Given the description of an element on the screen output the (x, y) to click on. 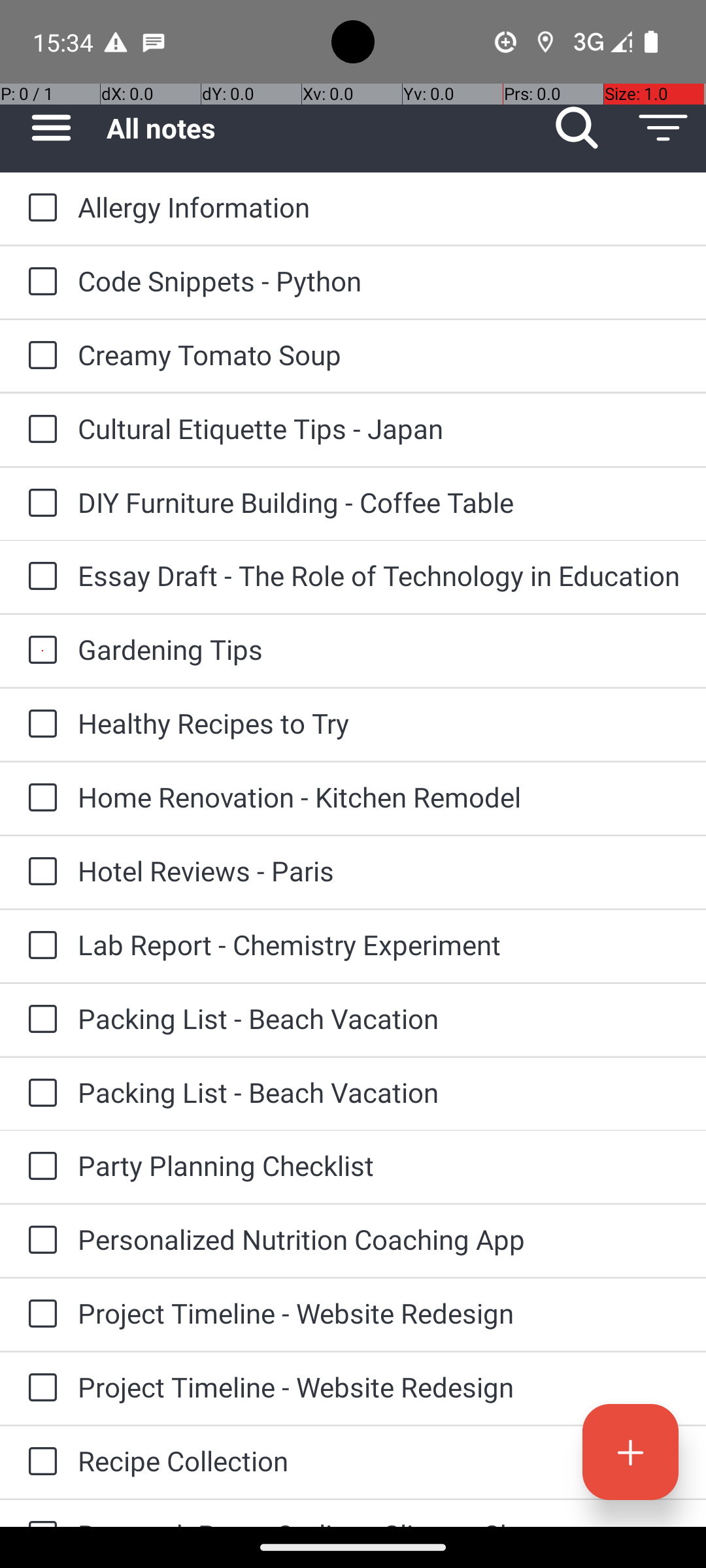
to-do: Allergy Information Element type: android.widget.CheckBox (38, 208)
Allergy Information Element type: android.widget.TextView (378, 206)
to-do: Code Snippets - Python Element type: android.widget.CheckBox (38, 282)
Code Snippets - Python Element type: android.widget.TextView (378, 280)
to-do: Creamy Tomato Soup Element type: android.widget.CheckBox (38, 356)
Creamy Tomato Soup Element type: android.widget.TextView (378, 354)
to-do: Cultural Etiquette Tips - Japan Element type: android.widget.CheckBox (38, 429)
Cultural Etiquette Tips - Japan Element type: android.widget.TextView (378, 427)
to-do: DIY Furniture Building - Coffee Table Element type: android.widget.CheckBox (38, 503)
DIY Furniture Building - Coffee Table Element type: android.widget.TextView (378, 501)
to-do: Gardening Tips Element type: android.widget.CheckBox (38, 650)
Gardening Tips Element type: android.widget.TextView (378, 648)
to-do: Healthy Recipes to Try Element type: android.widget.CheckBox (38, 724)
Healthy Recipes to Try Element type: android.widget.TextView (378, 722)
to-do: Home Renovation - Kitchen Remodel Element type: android.widget.CheckBox (38, 798)
Home Renovation - Kitchen Remodel Element type: android.widget.TextView (378, 796)
to-do: Hotel Reviews - Paris Element type: android.widget.CheckBox (38, 872)
Hotel Reviews - Paris Element type: android.widget.TextView (378, 870)
to-do: Lab Report - Chemistry Experiment Element type: android.widget.CheckBox (38, 946)
Lab Report - Chemistry Experiment Element type: android.widget.TextView (378, 944)
to-do: Packing List - Beach Vacation Element type: android.widget.CheckBox (38, 1019)
Packing List - Beach Vacation Element type: android.widget.TextView (378, 1017)
to-do: Party Planning Checklist Element type: android.widget.CheckBox (38, 1166)
Party Planning Checklist Element type: android.widget.TextView (378, 1164)
to-do: Personalized Nutrition Coaching App Element type: android.widget.CheckBox (38, 1240)
Personalized Nutrition Coaching App Element type: android.widget.TextView (378, 1238)
to-do: Project Timeline - Website Redesign Element type: android.widget.CheckBox (38, 1314)
Project Timeline - Website Redesign Element type: android.widget.TextView (378, 1312)
to-do: Recipe Collection Element type: android.widget.CheckBox (38, 1462)
Recipe Collection Element type: android.widget.TextView (378, 1460)
to-do: Research Paper Outline - Climate Change Element type: android.widget.CheckBox (38, 1513)
Research Paper Outline - Climate Change Element type: android.widget.TextView (378, 1520)
